Given the description of an element on the screen output the (x, y) to click on. 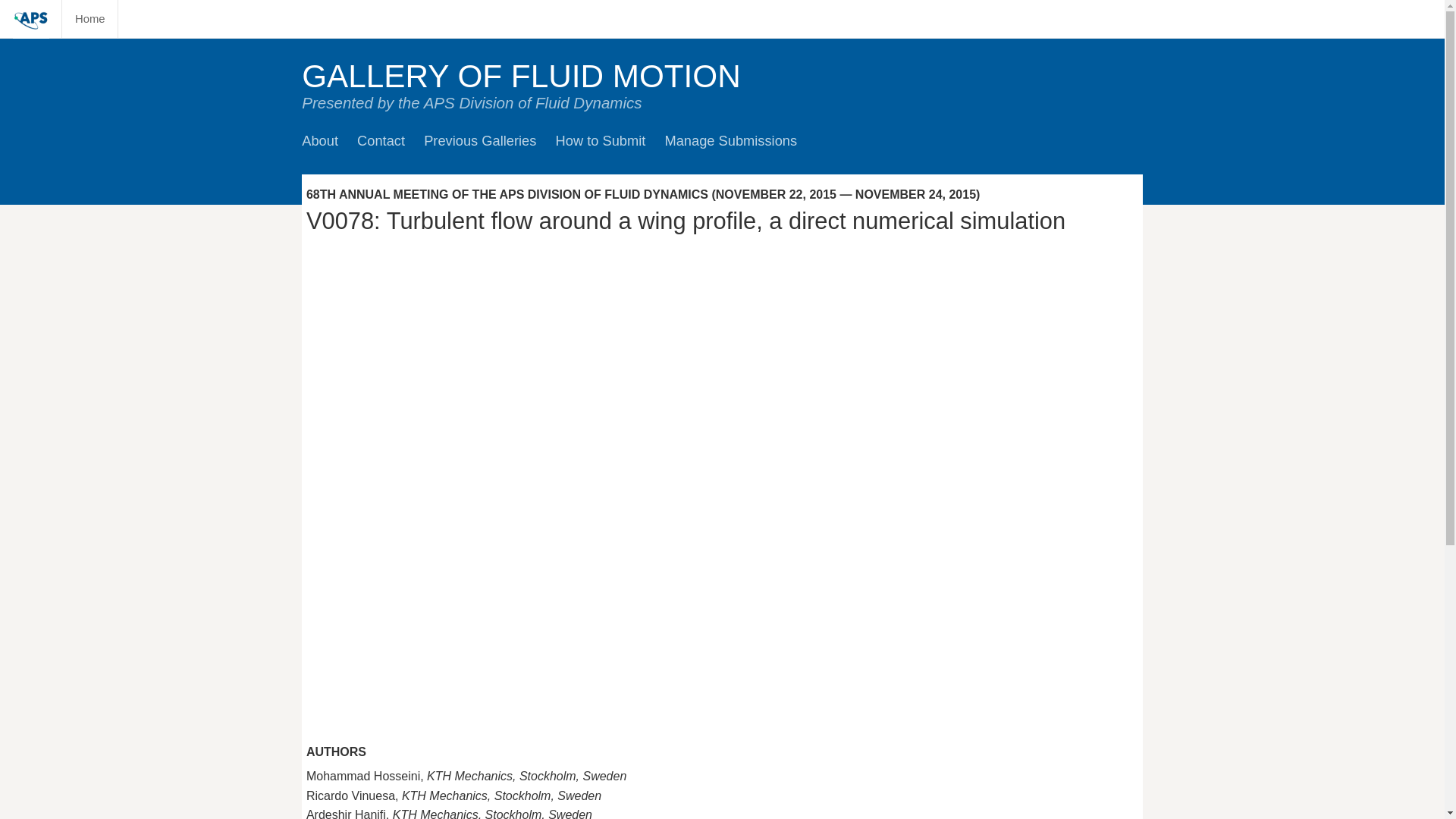
How to Submit (601, 140)
GALLERY OF FLUID MOTION (521, 76)
Home (89, 18)
Contact (380, 140)
About (319, 140)
Manage Submissions (729, 140)
Previous Galleries (479, 140)
